Given the description of an element on the screen output the (x, y) to click on. 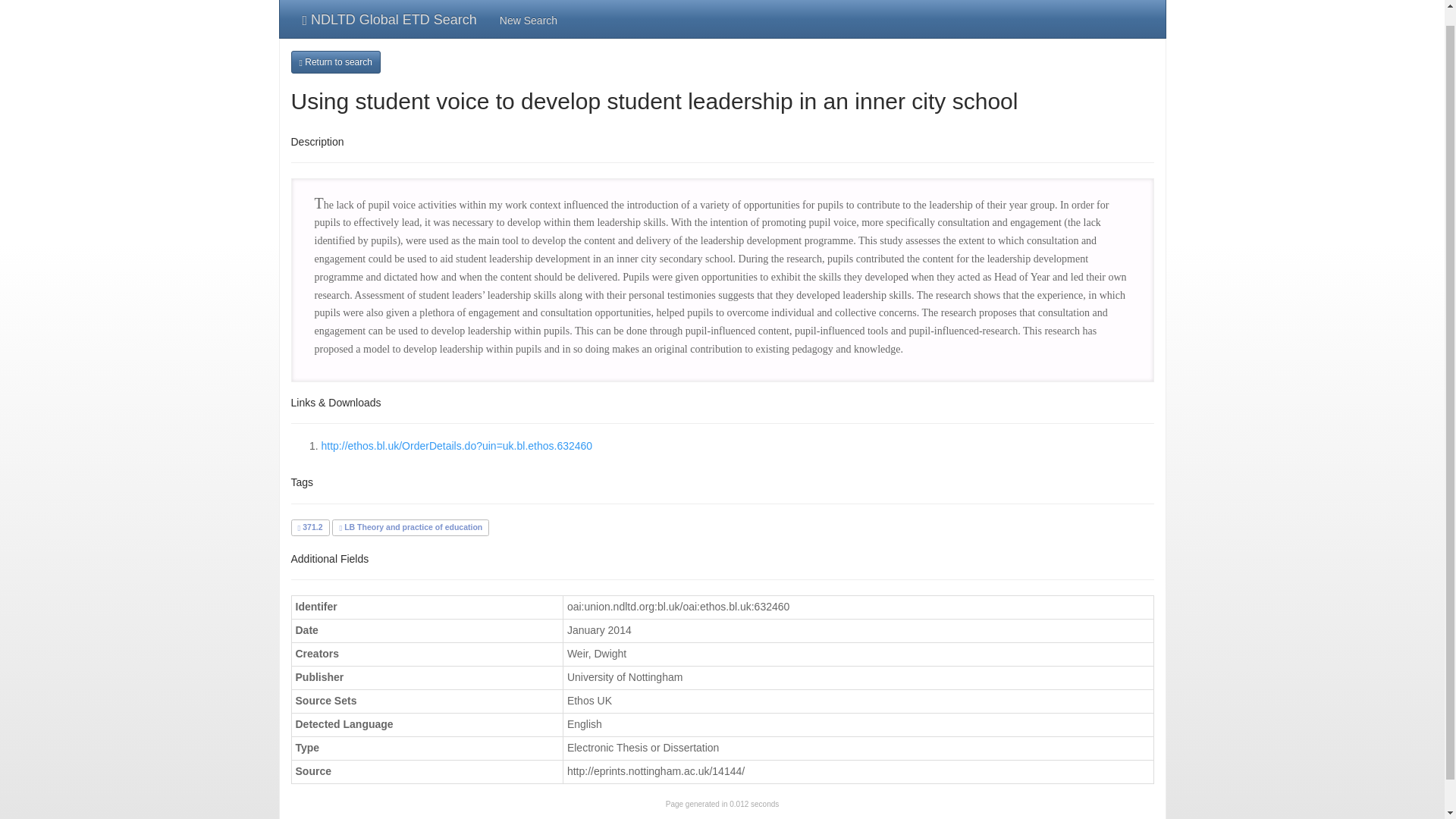
Return to search (335, 61)
NDLTD Global ETD Search (389, 18)
371.2 (309, 526)
LB Theory and practice of education (410, 526)
New Search (528, 18)
